Given the description of an element on the screen output the (x, y) to click on. 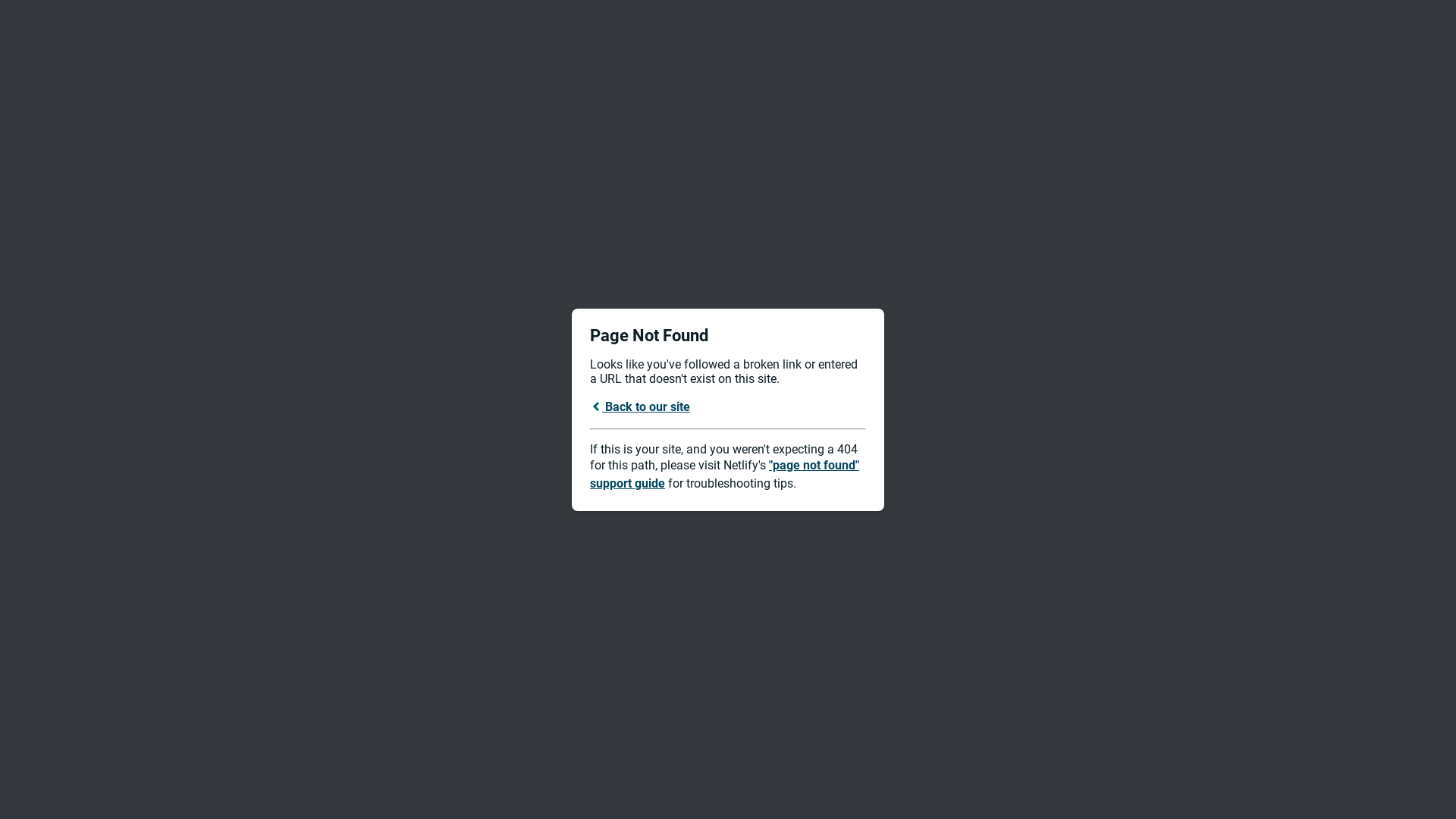
Back to our site Element type: text (639, 405)
"page not found" support guide Element type: text (724, 474)
